Given the description of an element on the screen output the (x, y) to click on. 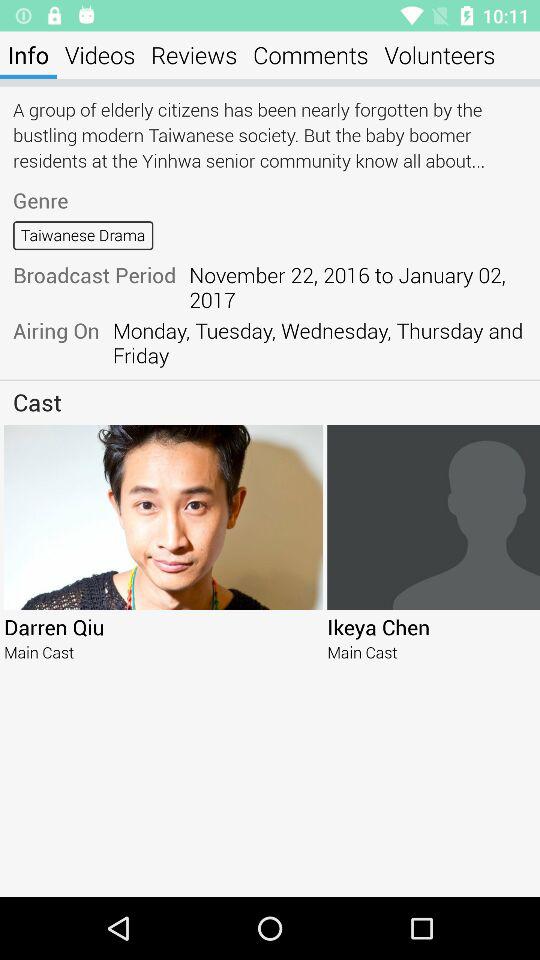
turn on icon to the right of the videos icon (194, 54)
